Given the description of an element on the screen output the (x, y) to click on. 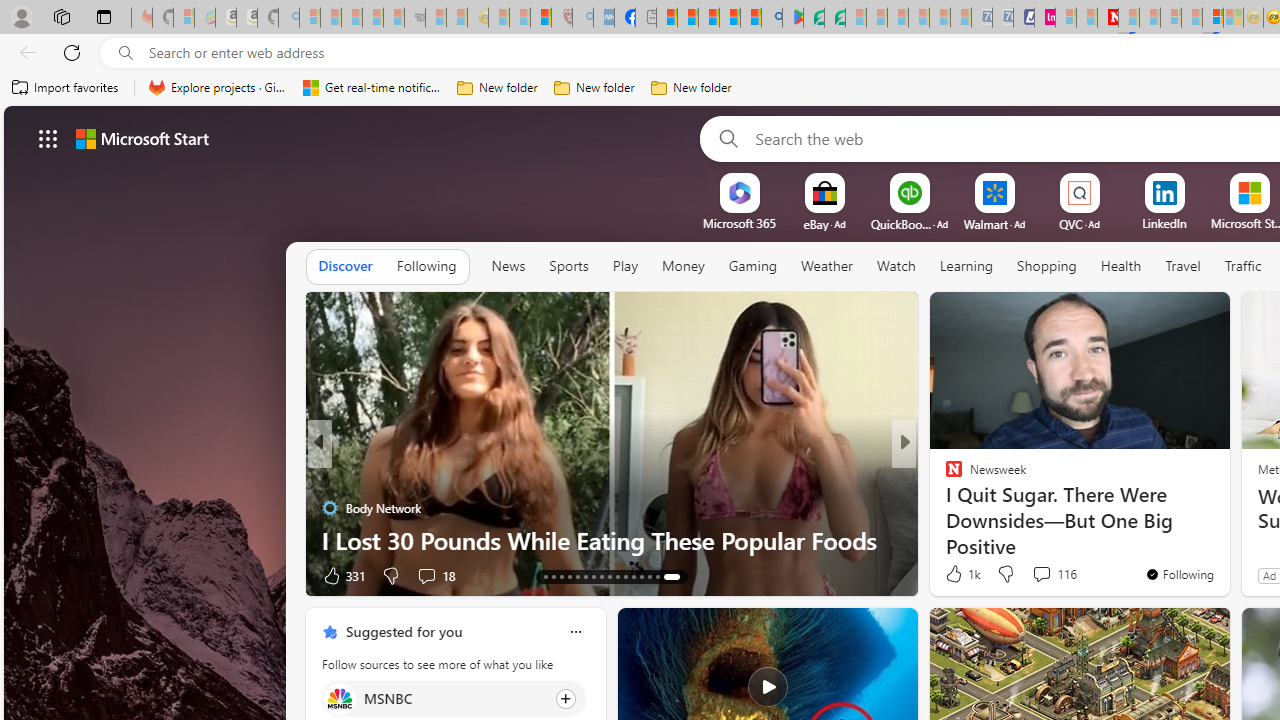
Suggested for you (404, 631)
New folder (691, 88)
AutomationID: tab-41 (656, 576)
Body Network (329, 507)
Latest Politics News & Archive | Newsweek.com (1107, 17)
AutomationID: tab-21 (609, 576)
